Given the description of an element on the screen output the (x, y) to click on. 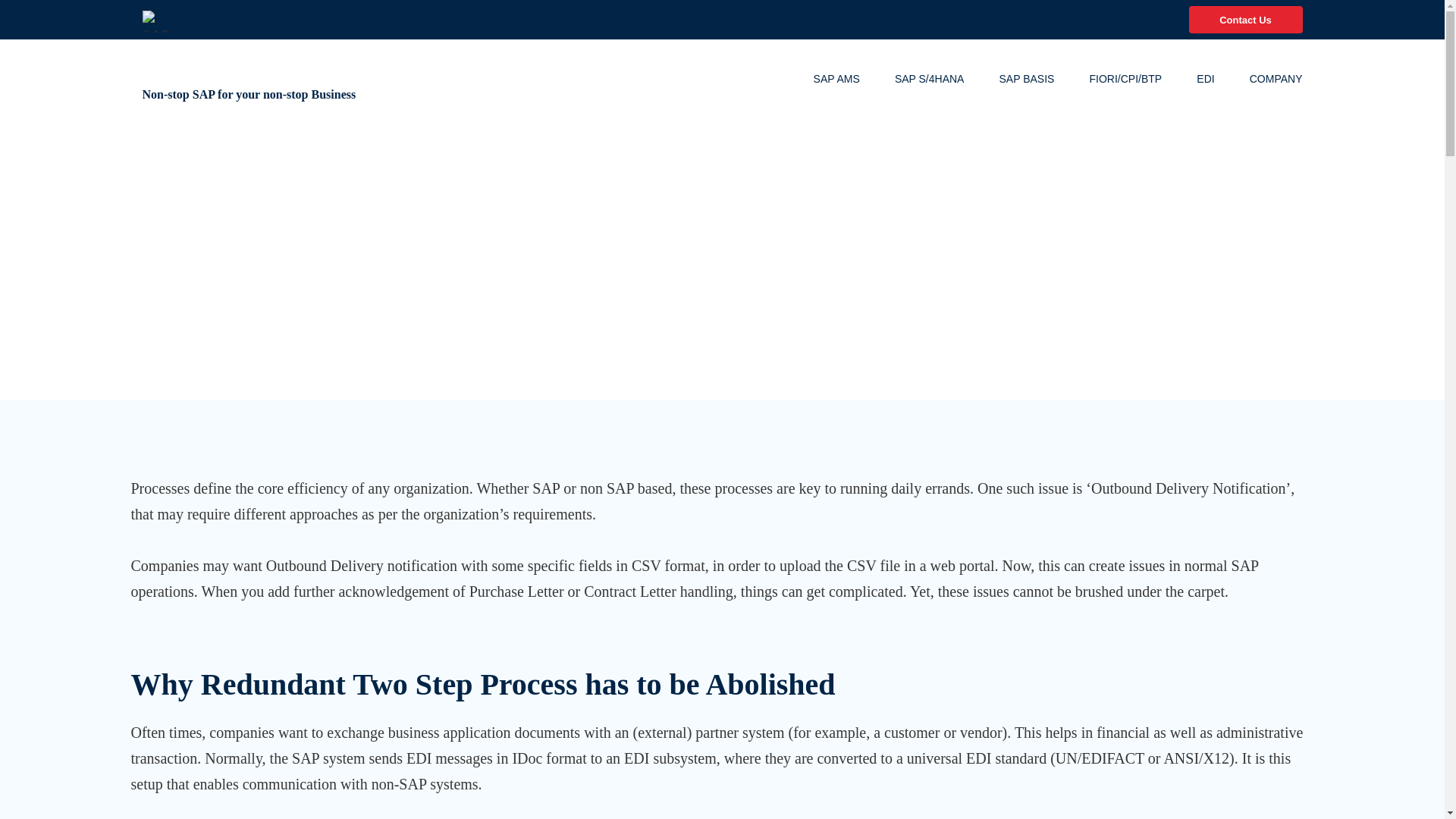
SAP BASIS (1043, 78)
Contact Us (1246, 19)
SAP AMS (854, 78)
